Given the description of an element on the screen output the (x, y) to click on. 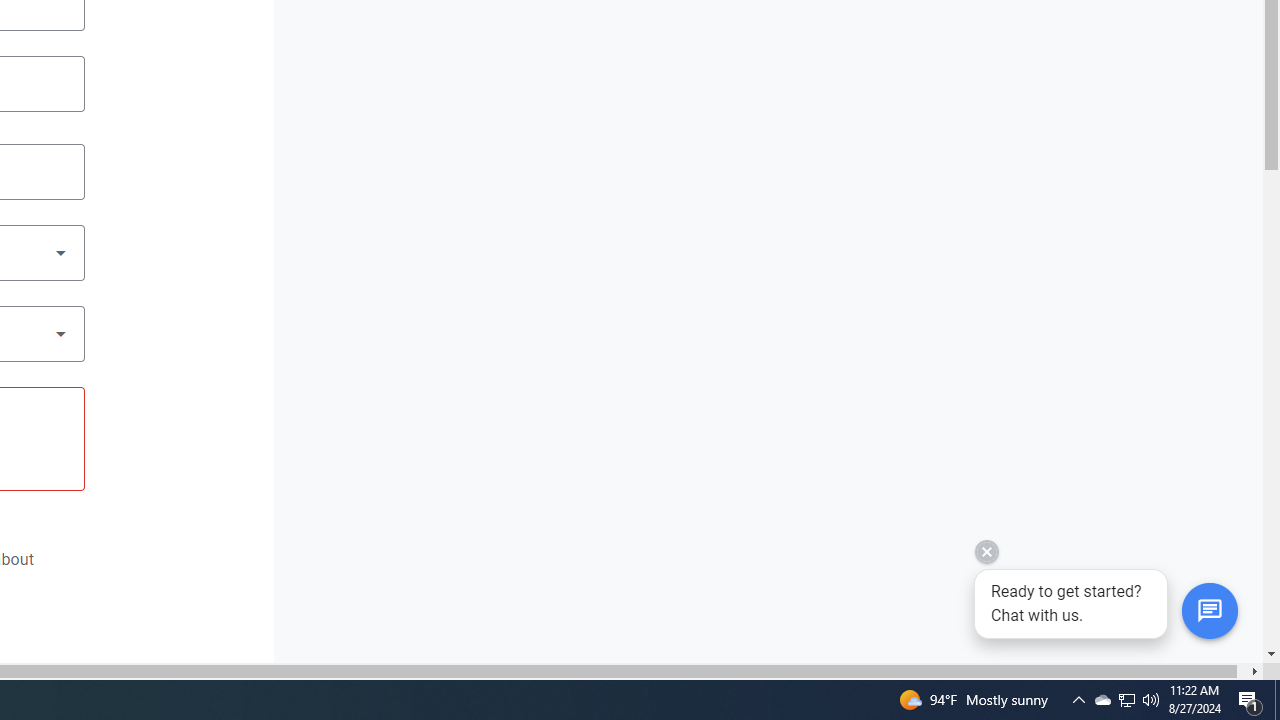
Button to activate chat (1209, 611)
